Given the description of an element on the screen output the (x, y) to click on. 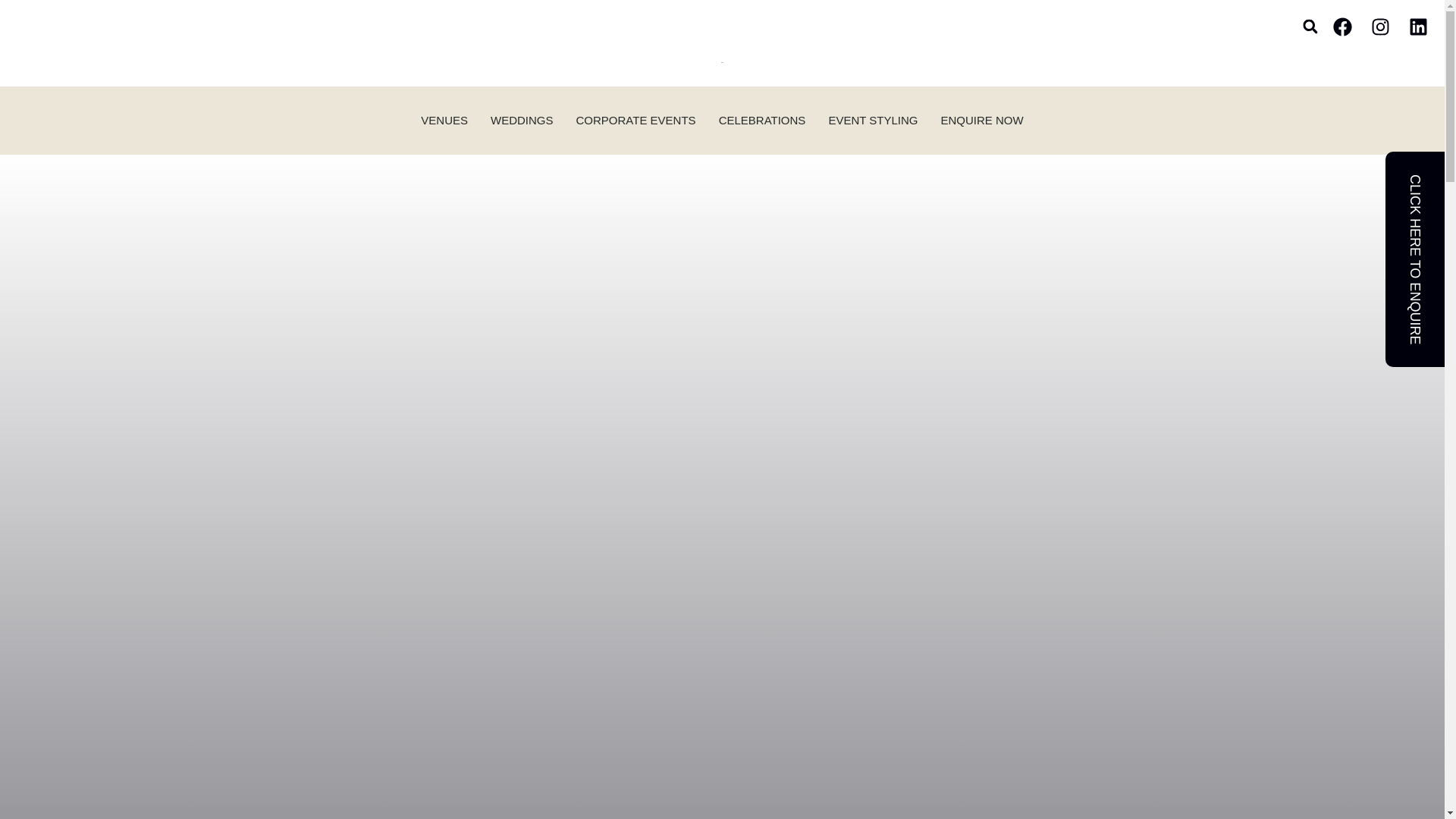
VENUES (444, 120)
